Given the description of an element on the screen output the (x, y) to click on. 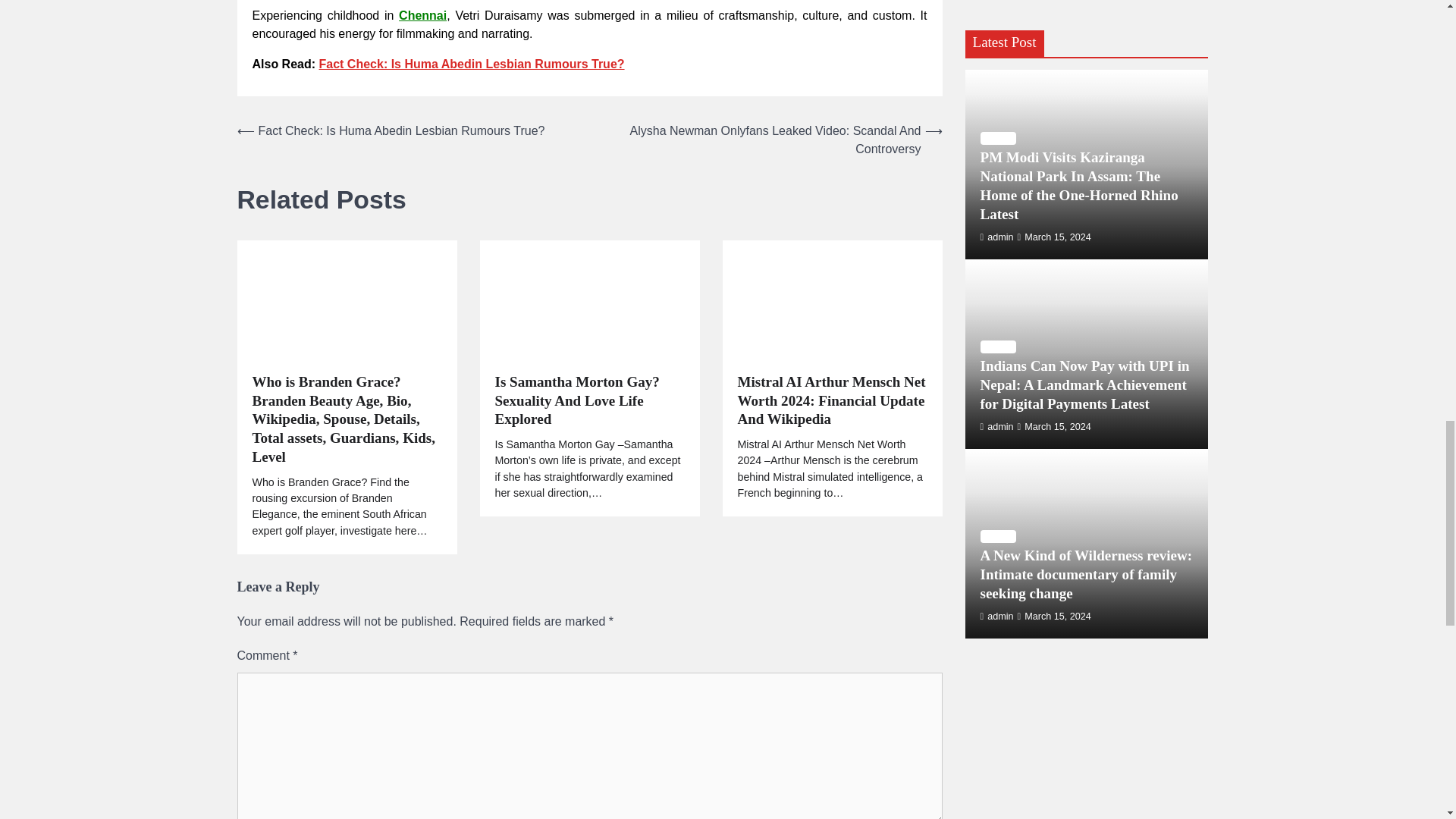
Fact Check: Is Huma Abedin Lesbian Rumours True? (471, 63)
Is Samantha Morton Gay? Sexuality And Love Life Explored (589, 401)
Chennai (422, 15)
